Given the description of an element on the screen output the (x, y) to click on. 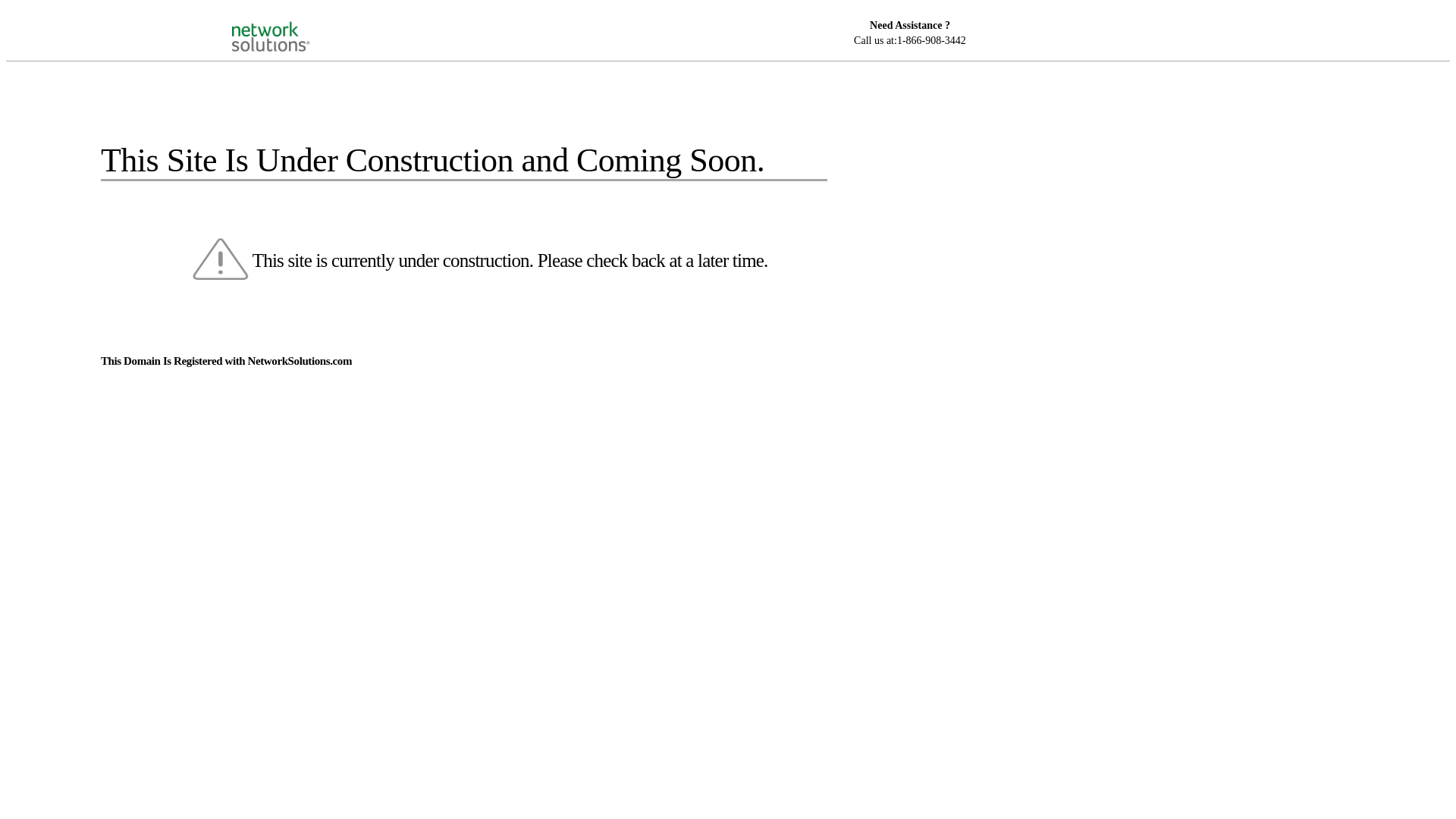
NetworkSolutions.com Home Element type: hover (289, 23)
